Given the description of an element on the screen output the (x, y) to click on. 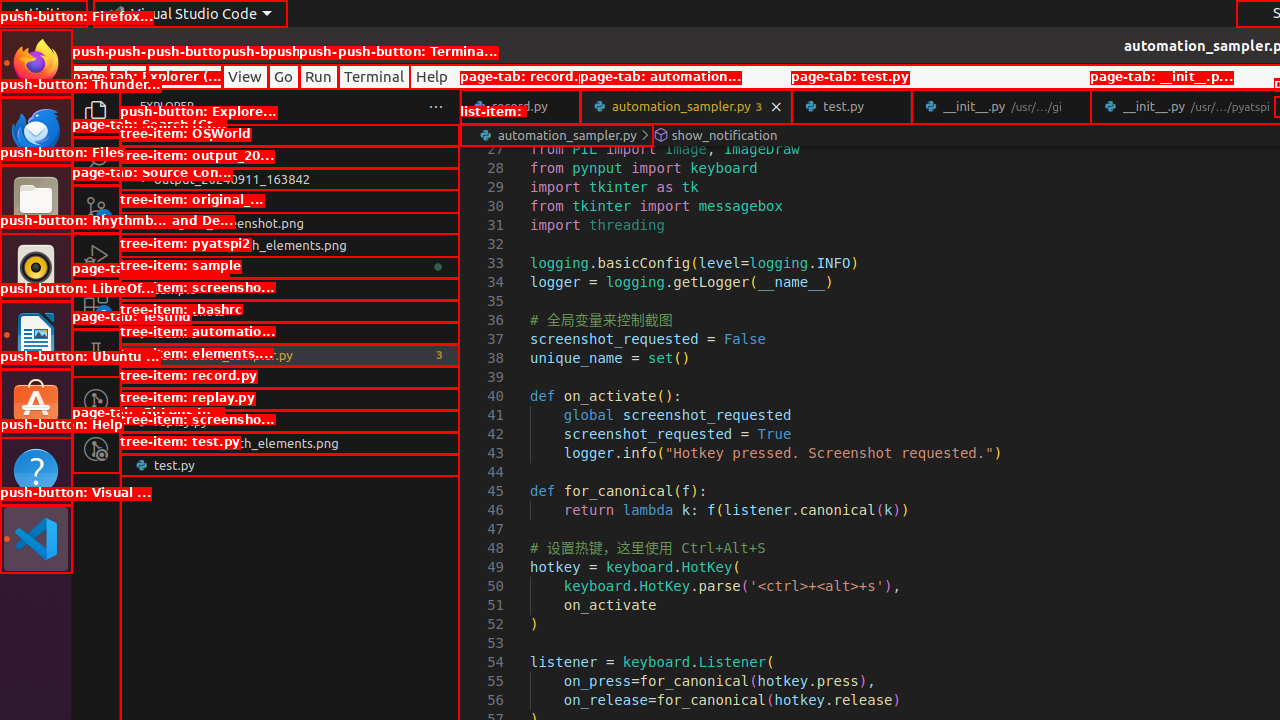
Search (Ctrl+Shift+F) Element type: page-tab (96, 160)
Run Element type: push-button (318, 76)
Extensions (Ctrl+Shift+X) - 2 require update Element type: page-tab (96, 305)
Run and Debug (Ctrl+Shift+D) Element type: page-tab (96, 257)
original_screenshot.png Element type: tree-item (289, 223)
